Given the description of an element on the screen output the (x, y) to click on. 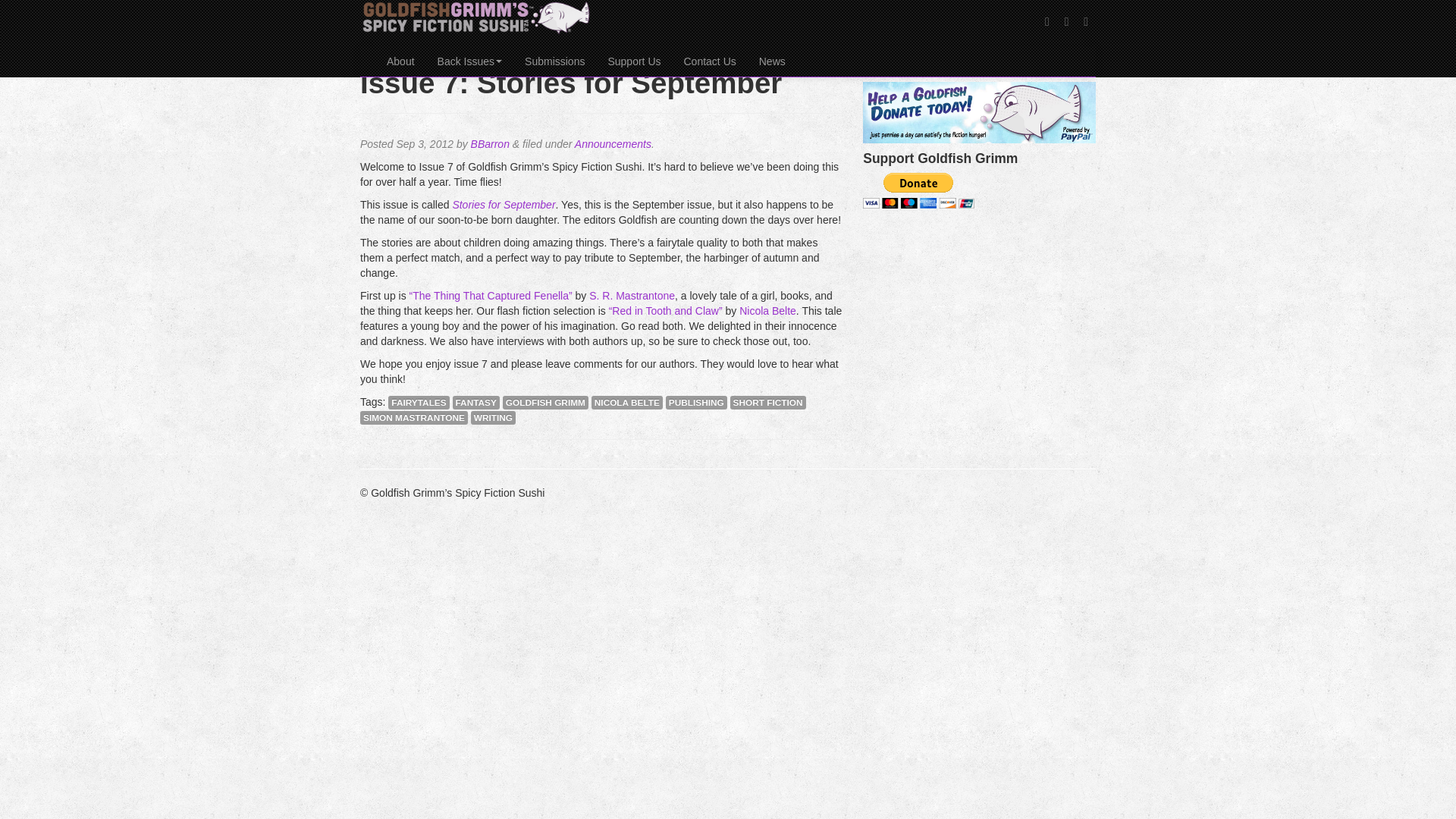
PUBLISHING (695, 402)
FANTASY (475, 402)
News (772, 60)
SHORT FICTION (768, 402)
S. R. Mastrantone (632, 295)
NICOLA BELTE (626, 402)
Back Issues (469, 60)
Posts by BBarron (489, 143)
Submissions (554, 60)
WRITING (492, 418)
